Given the description of an element on the screen output the (x, y) to click on. 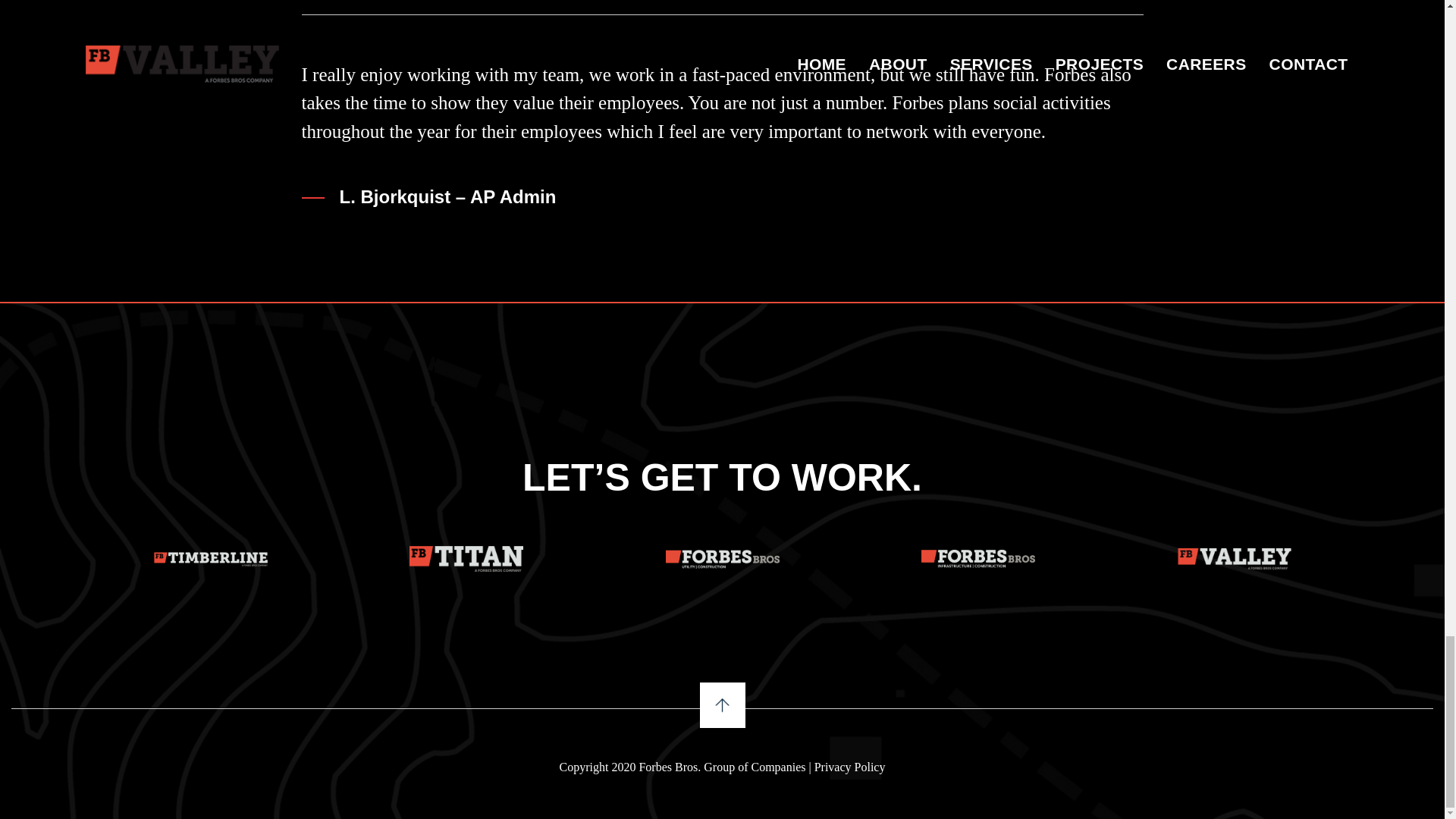
Forbes Bros. Group of Companies (722, 766)
Privacy Policy (849, 766)
